Given the description of an element on the screen output the (x, y) to click on. 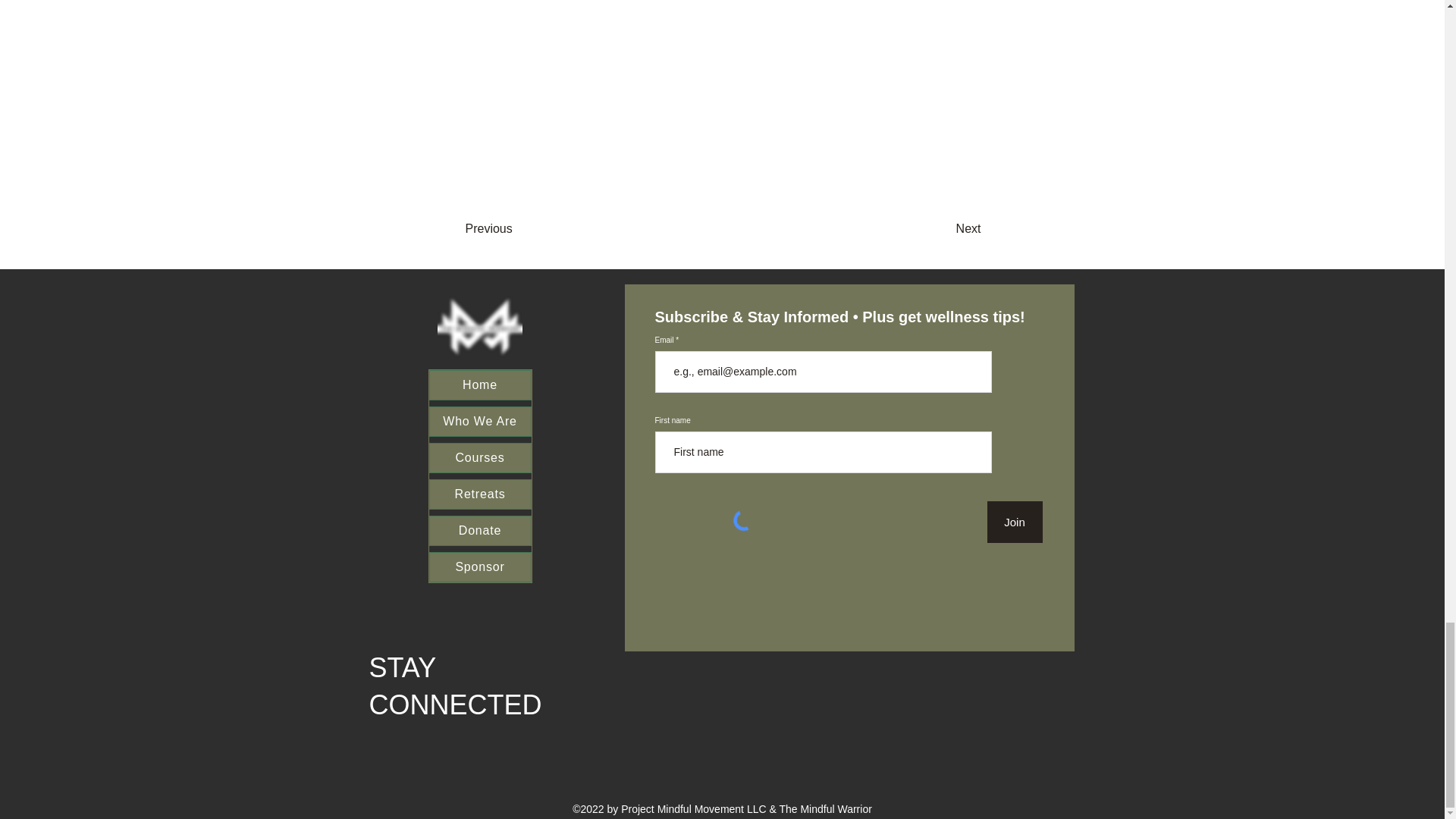
Courses (480, 458)
Join (1014, 521)
Previous (526, 228)
Donate (480, 530)
Sponsor (480, 567)
Home (480, 385)
Retreats (480, 494)
Next (928, 228)
Who We Are (480, 421)
